Given the description of an element on the screen output the (x, y) to click on. 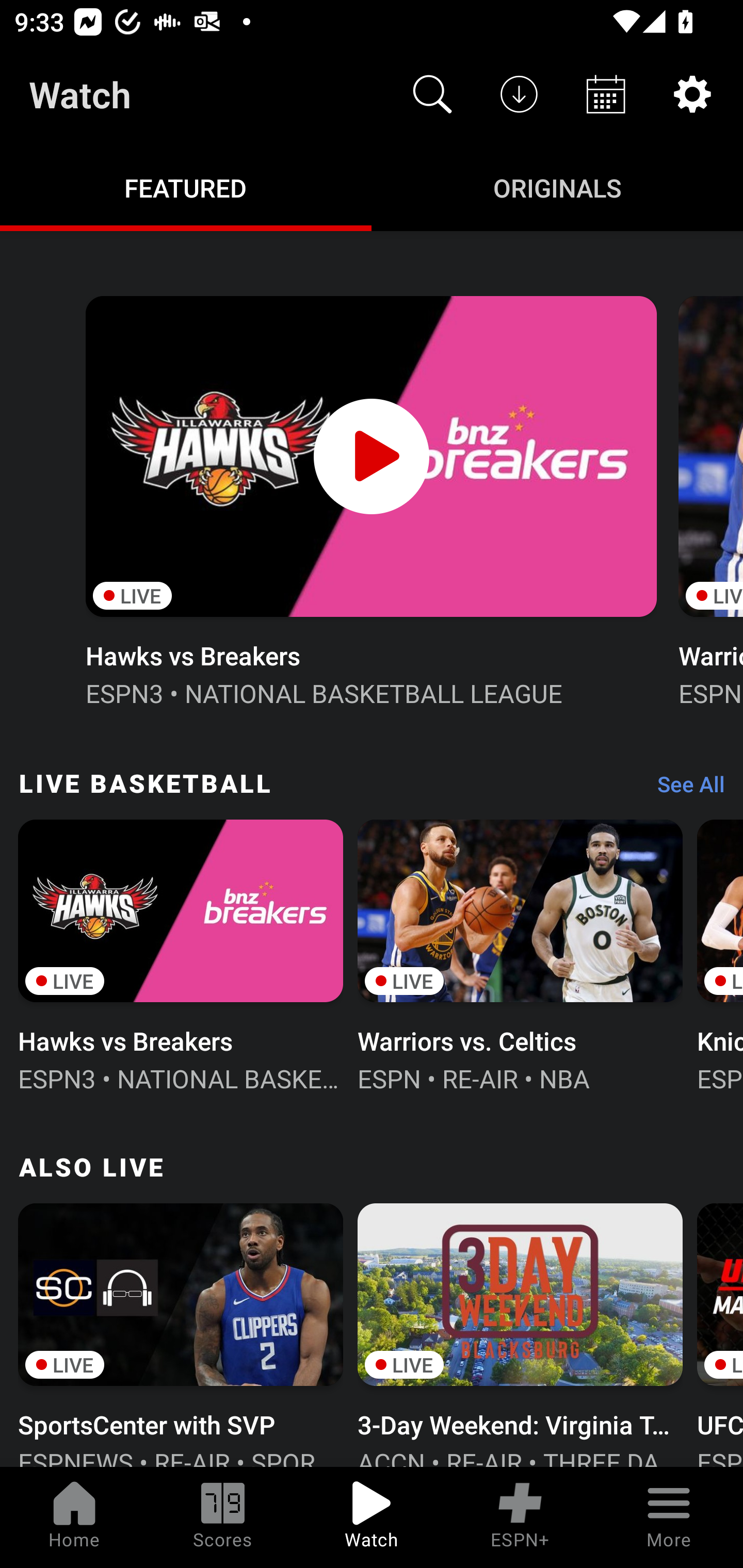
Search (432, 93)
Downloads (518, 93)
Schedule (605, 93)
Settings (692, 93)
Originals ORIGINALS (557, 187)
See All (683, 788)
LIVE Warriors vs. Celtics ESPN • RE-AIR • NBA (519, 954)
Home (74, 1517)
Scores (222, 1517)
ESPN+ (519, 1517)
More (668, 1517)
